Given the description of an element on the screen output the (x, y) to click on. 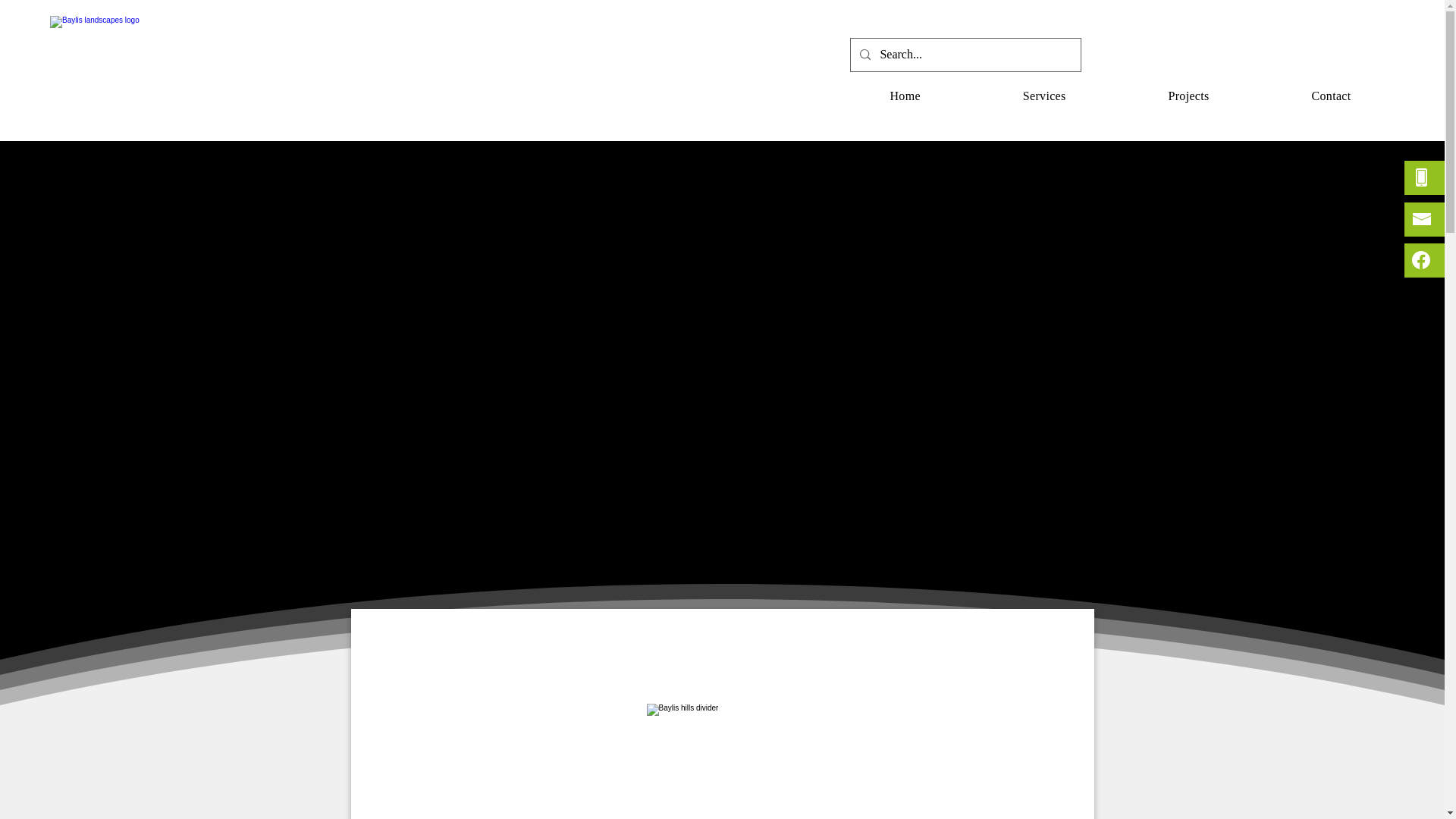
Home (904, 95)
Contact (1331, 95)
